Given the description of an element on the screen output the (x, y) to click on. 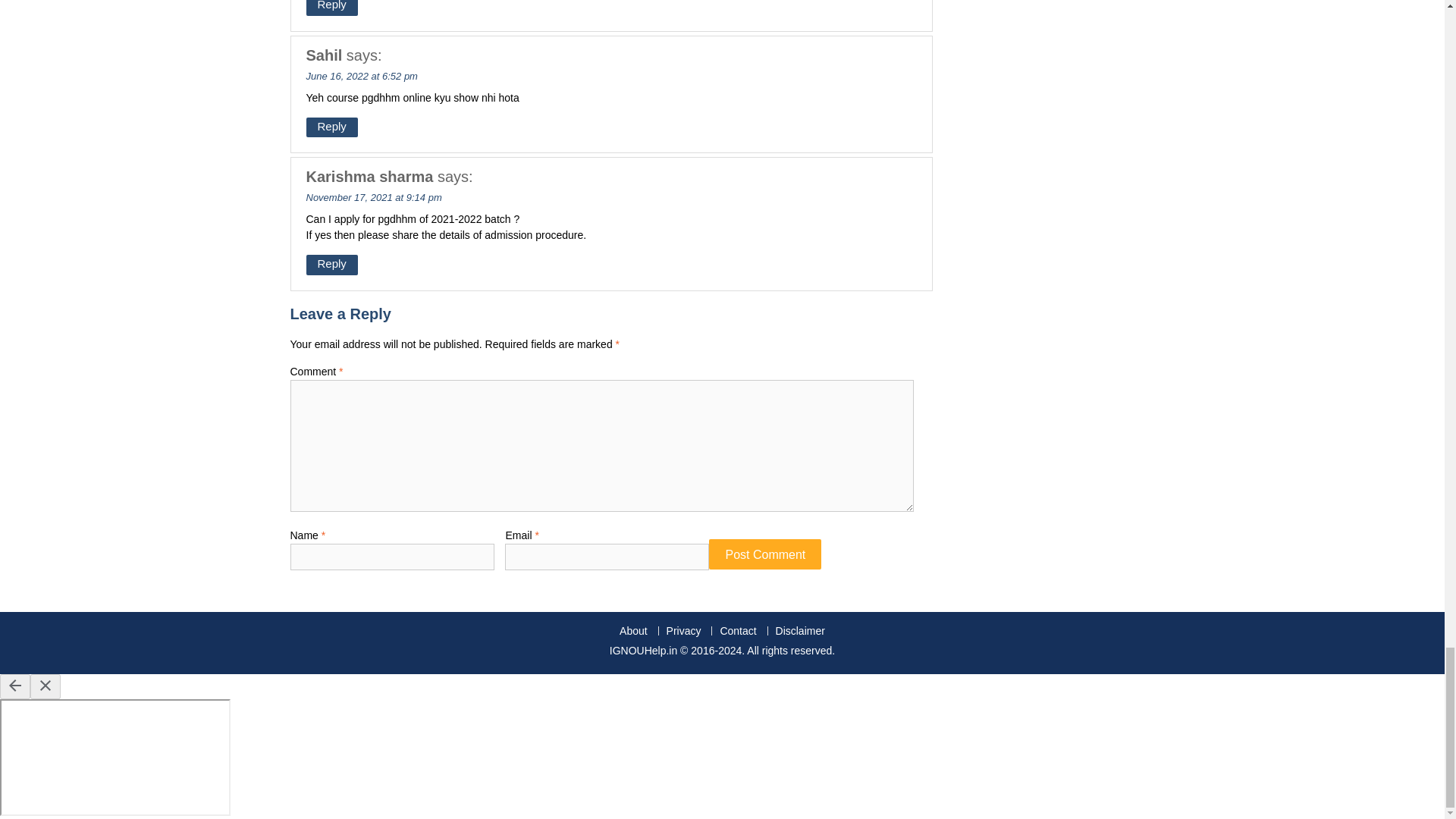
Reply (331, 127)
June 16, 2022 at 6:52 pm (361, 75)
November 17, 2021 at 9:14 pm (373, 197)
Reply (331, 7)
Post Comment (765, 553)
